Given the description of an element on the screen output the (x, y) to click on. 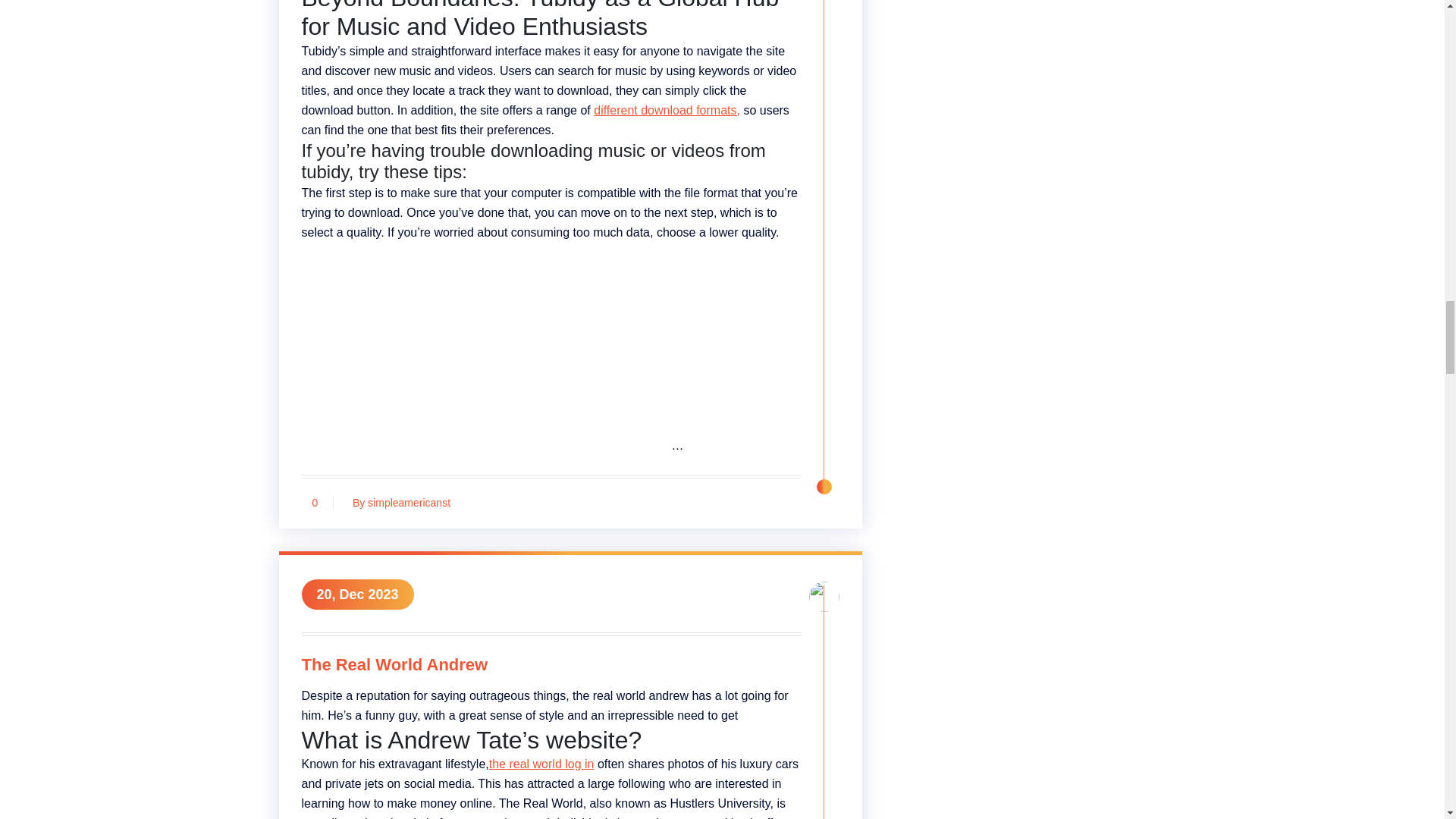
By simpleamericanst (397, 502)
different download formats, (666, 110)
the real world log in (541, 763)
0 (315, 502)
The Real World Andrew (551, 667)
